Given the description of an element on the screen output the (x, y) to click on. 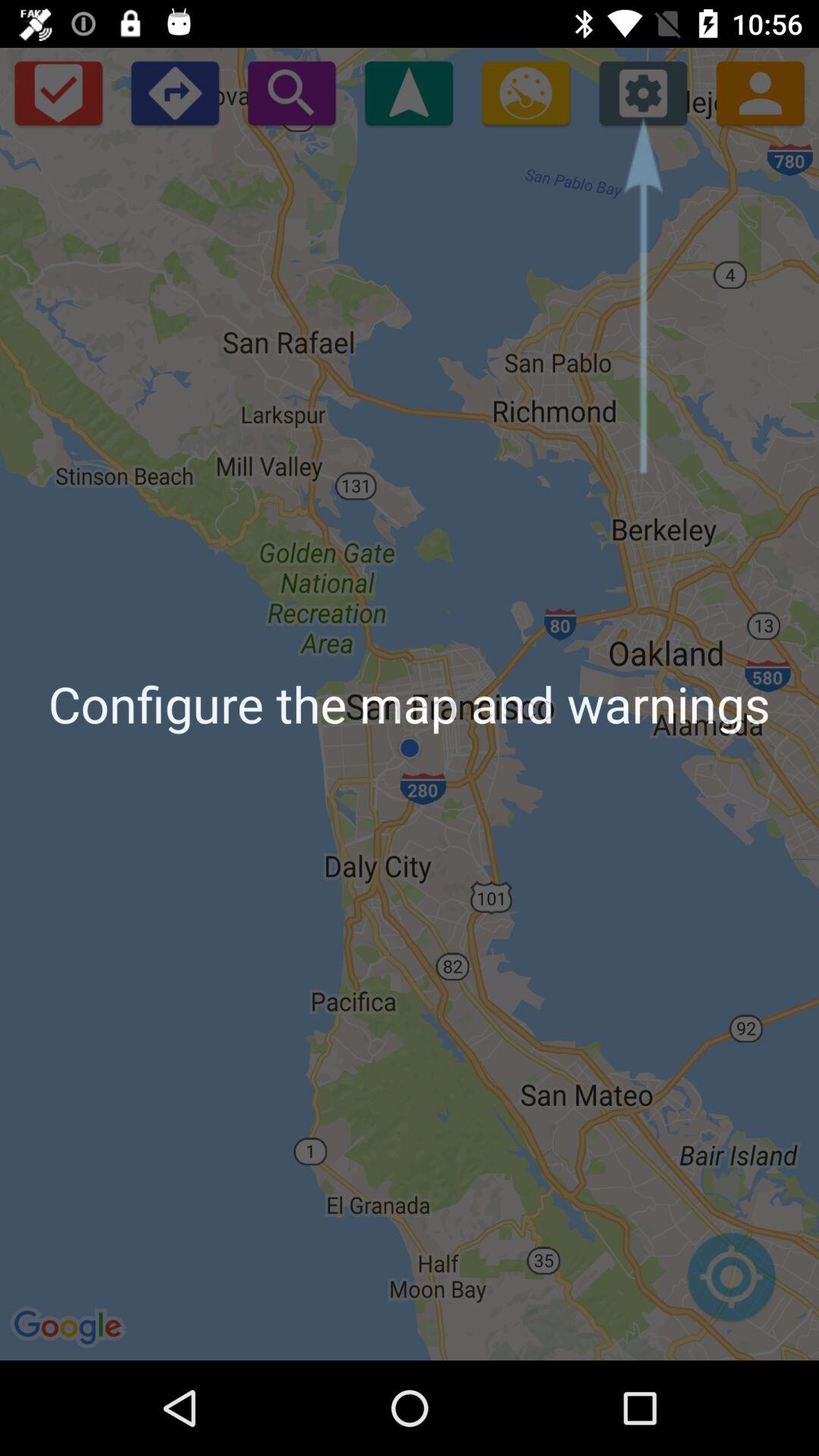
turn on app above the configure the map icon (291, 92)
